Given the description of an element on the screen output the (x, y) to click on. 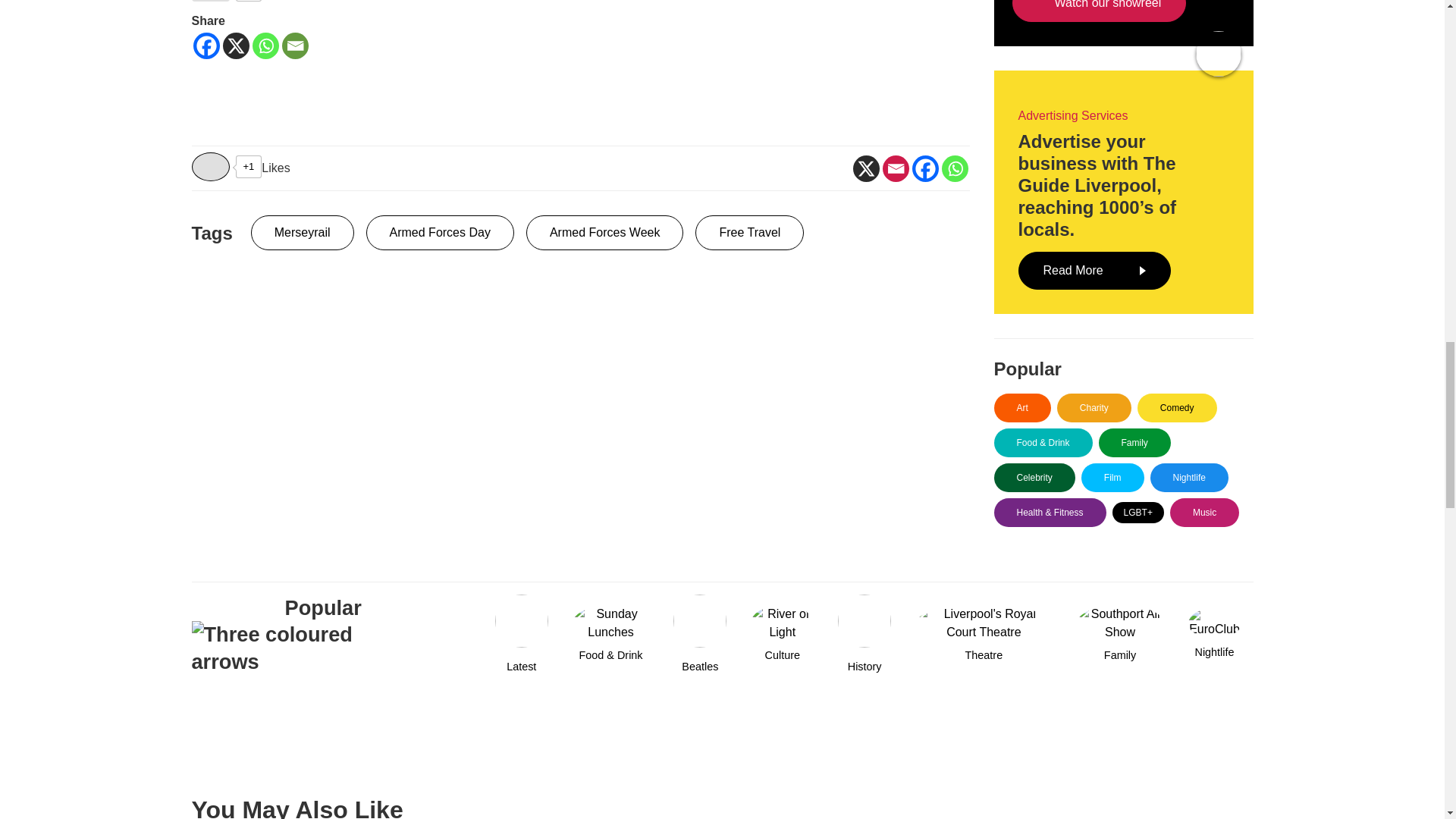
Email (895, 168)
X (235, 45)
Facebook (924, 168)
Email (295, 45)
Facebook (205, 45)
X (865, 168)
Whatsapp (264, 45)
Whatsapp (955, 168)
